Given the description of an element on the screen output the (x, y) to click on. 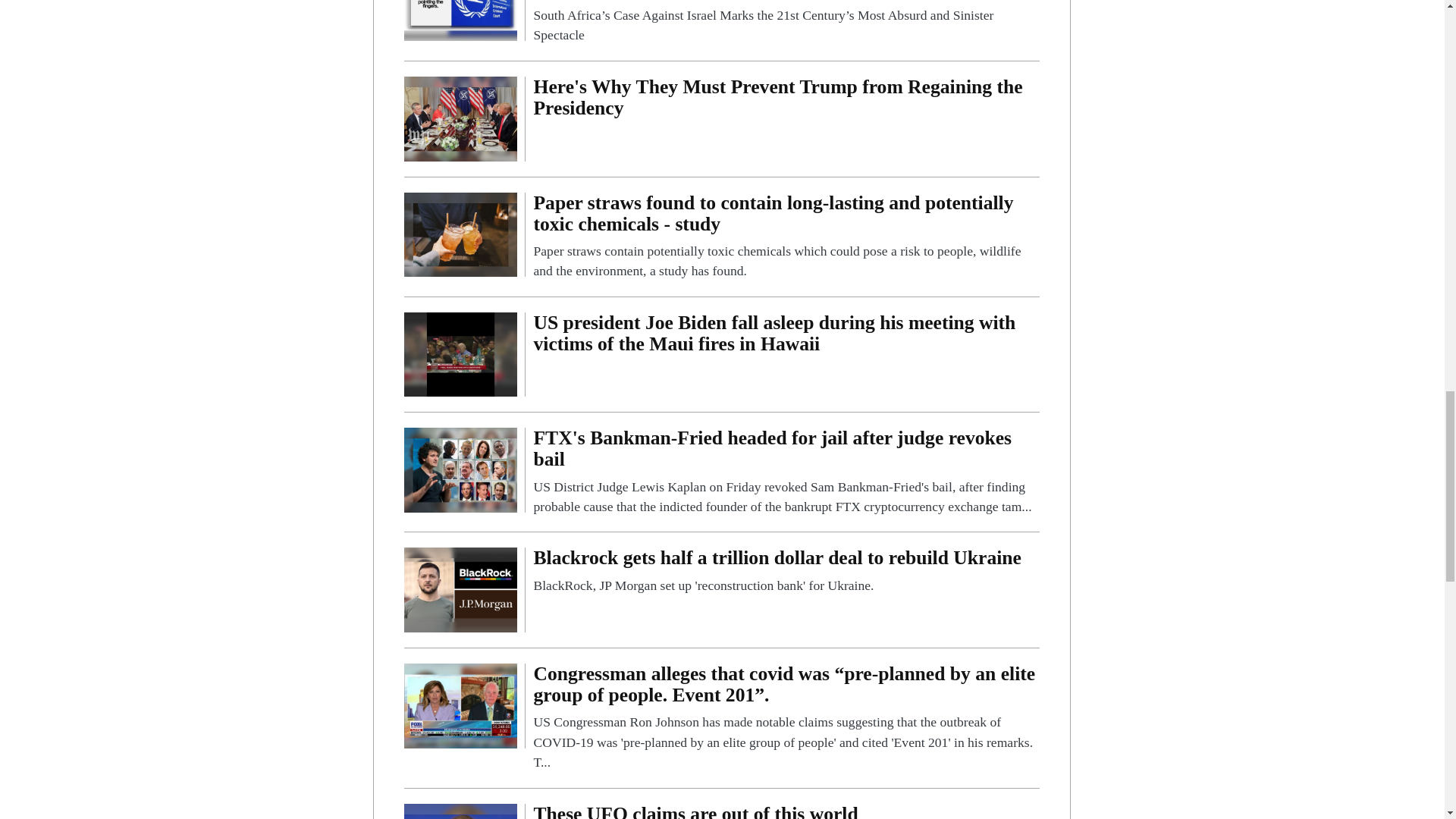
FTX's Bankman-Fried headed for jail after judge revokes bail (460, 468)
These UFO claims are out of this world (785, 811)
